Given the description of an element on the screen output the (x, y) to click on. 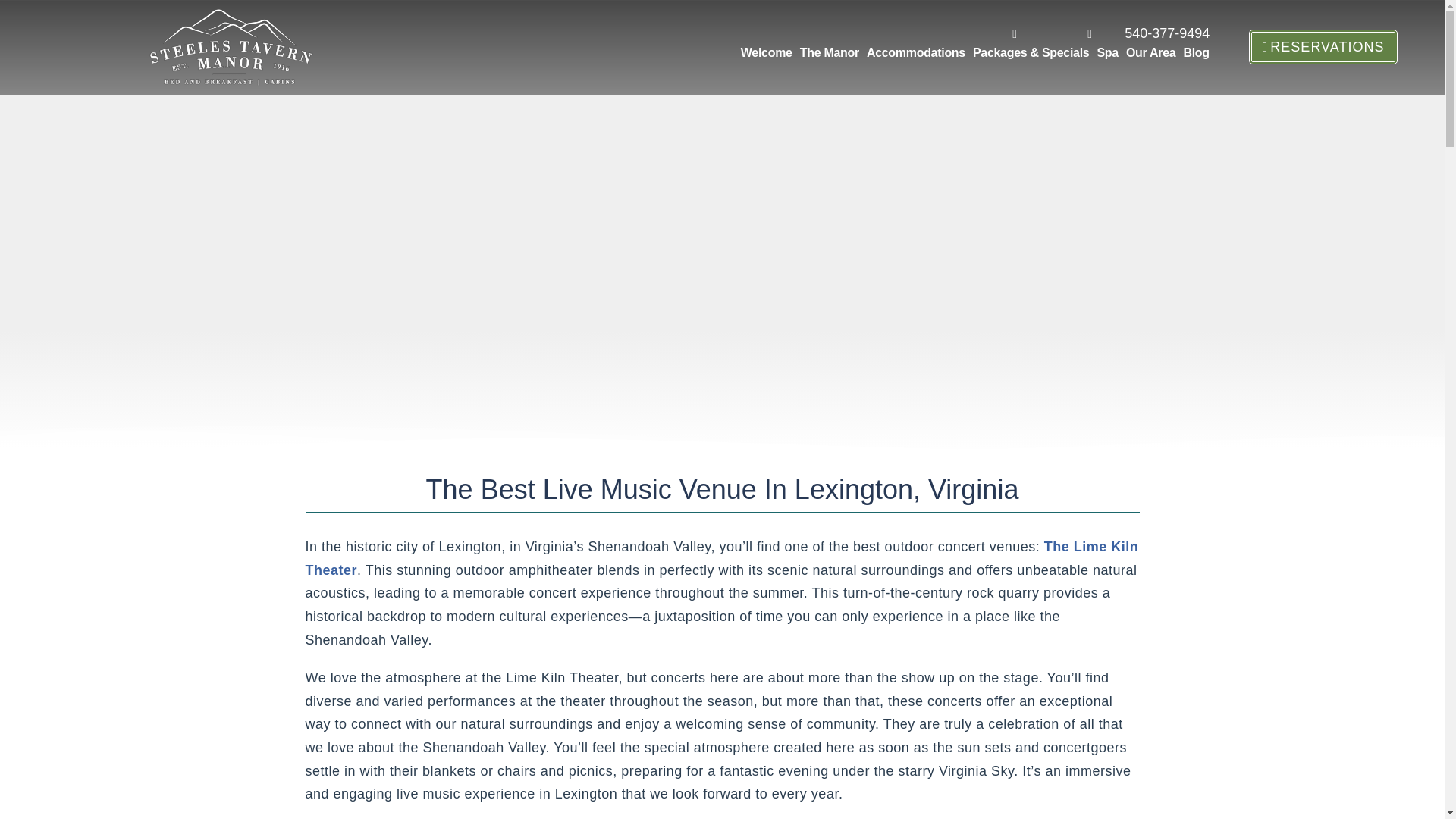
Welcome (766, 53)
540-377-9494 (1155, 33)
Accommodations (916, 53)
Blog (1195, 53)
Our Area (1150, 53)
The Manor (829, 53)
